Given the description of an element on the screen output the (x, y) to click on. 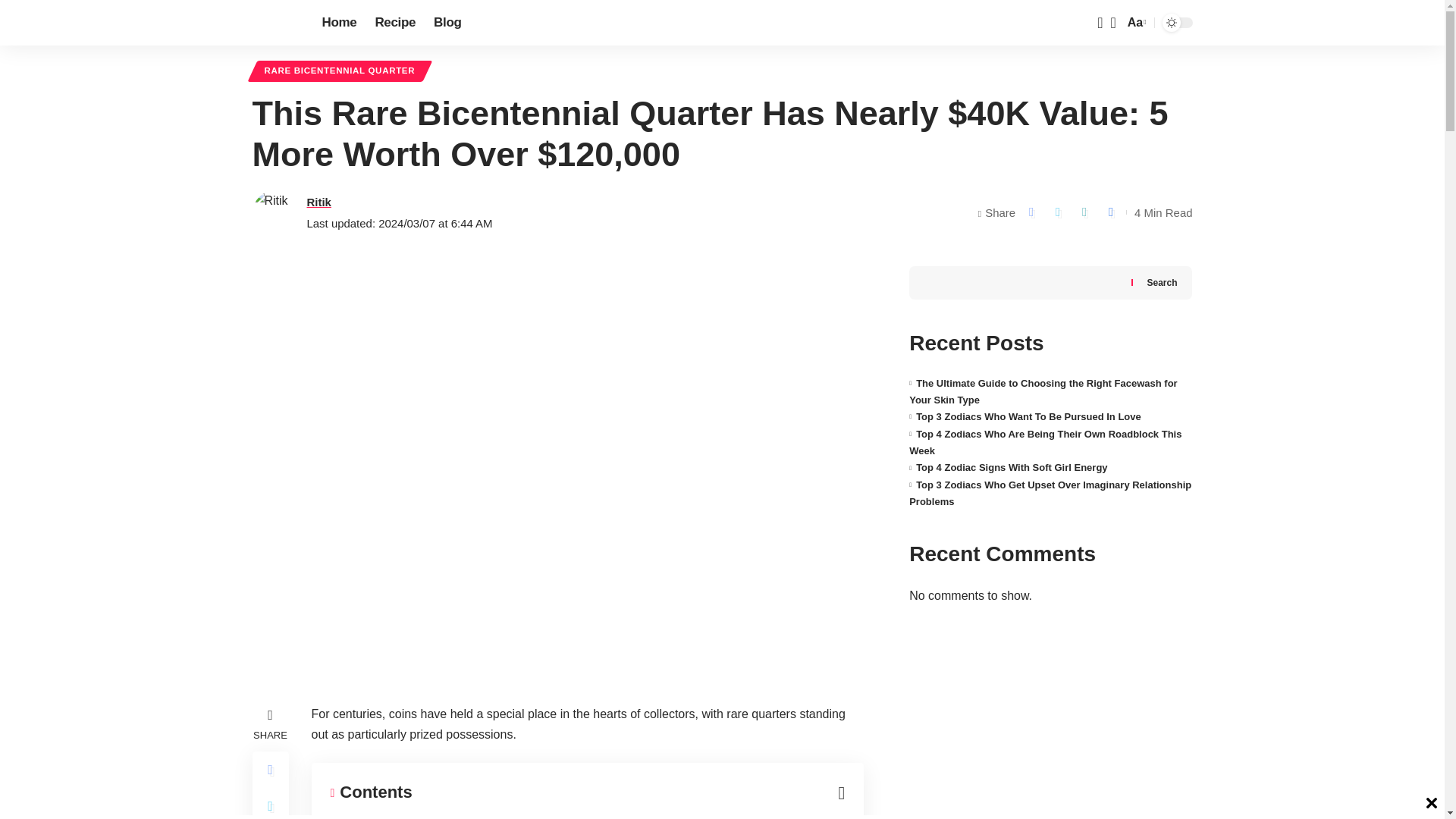
Ritik (317, 201)
Home (339, 22)
Blog (447, 22)
Aa (1135, 22)
RARE BICENTENNIAL QUARTER (338, 70)
Angelstreeserviceatx (274, 22)
Recipe (395, 22)
